Given the description of an element on the screen output the (x, y) to click on. 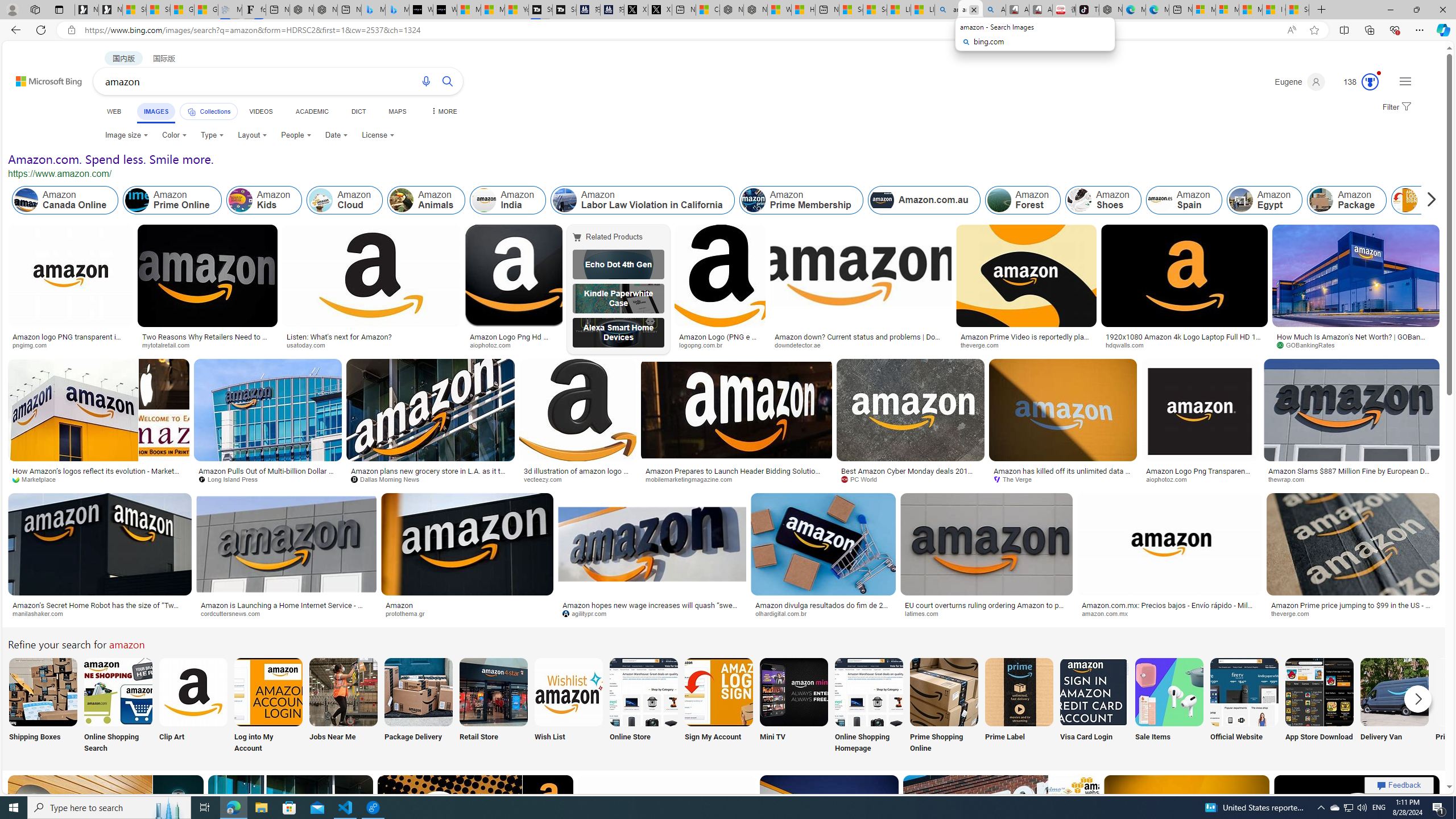
Listen: What's next for Amazon? (370, 336)
3d illustration of amazon logo 18779928 PNG (577, 474)
downdetector.ae (801, 344)
Best Amazon Cyber Monday deals 2019 | PCWorld (910, 474)
logopng.com.br (719, 344)
cordcuttersnews.com (233, 612)
Amazon Delivery Van (1393, 691)
